Given the description of an element on the screen output the (x, y) to click on. 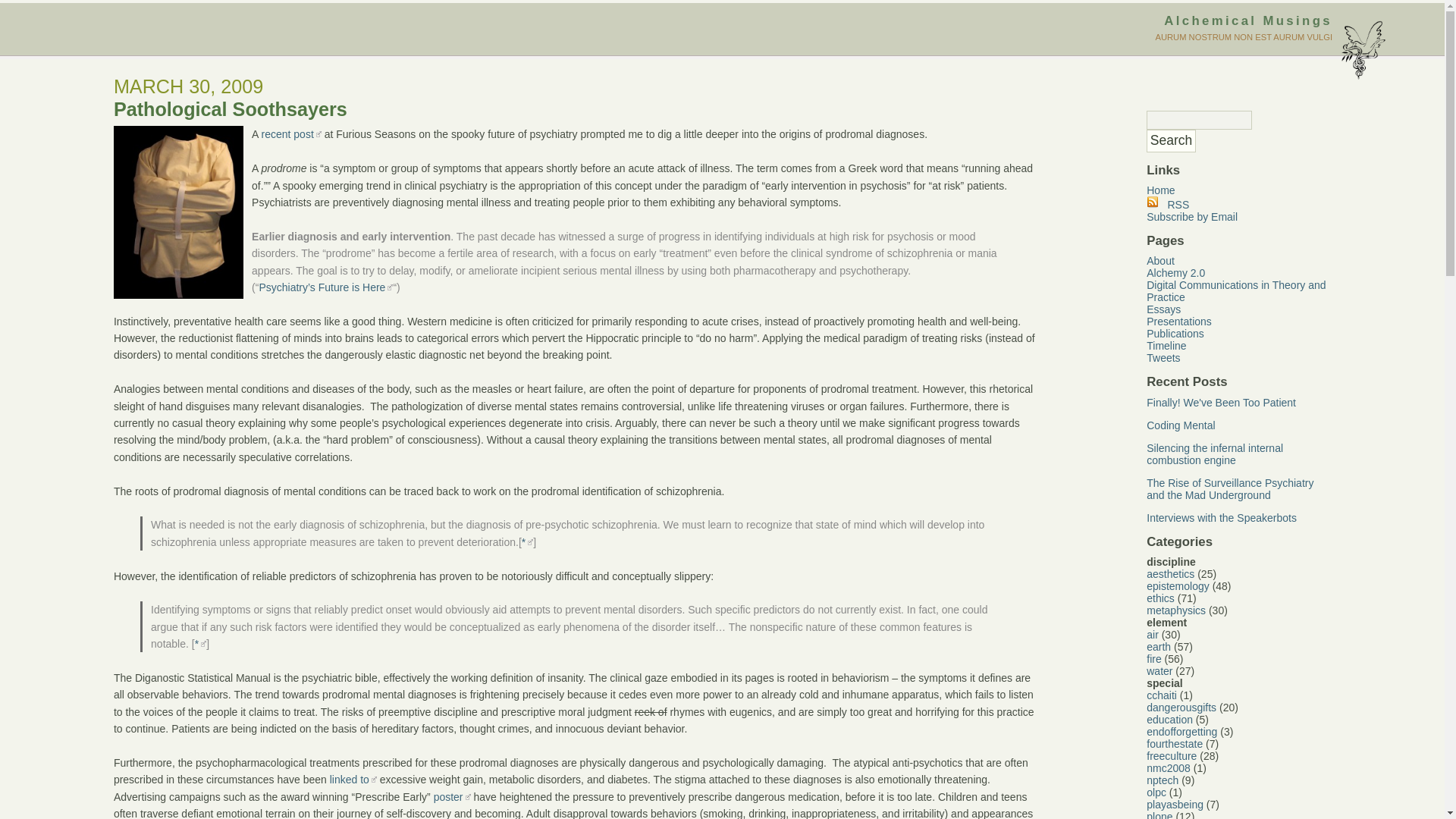
Search (1171, 140)
Alchemy 2.0 (1176, 272)
Home (1160, 190)
Alchemical Musings (1247, 20)
Pathological Soothsayers (230, 108)
Presentations (1179, 321)
poster (451, 797)
Subscribe by Email (1192, 216)
recent post (291, 133)
Search (1171, 140)
RSS (1168, 204)
linked to (353, 779)
Publications (1175, 333)
Digital Communications in Theory and Practice (1235, 291)
Essays (1163, 309)
